Given the description of an element on the screen output the (x, y) to click on. 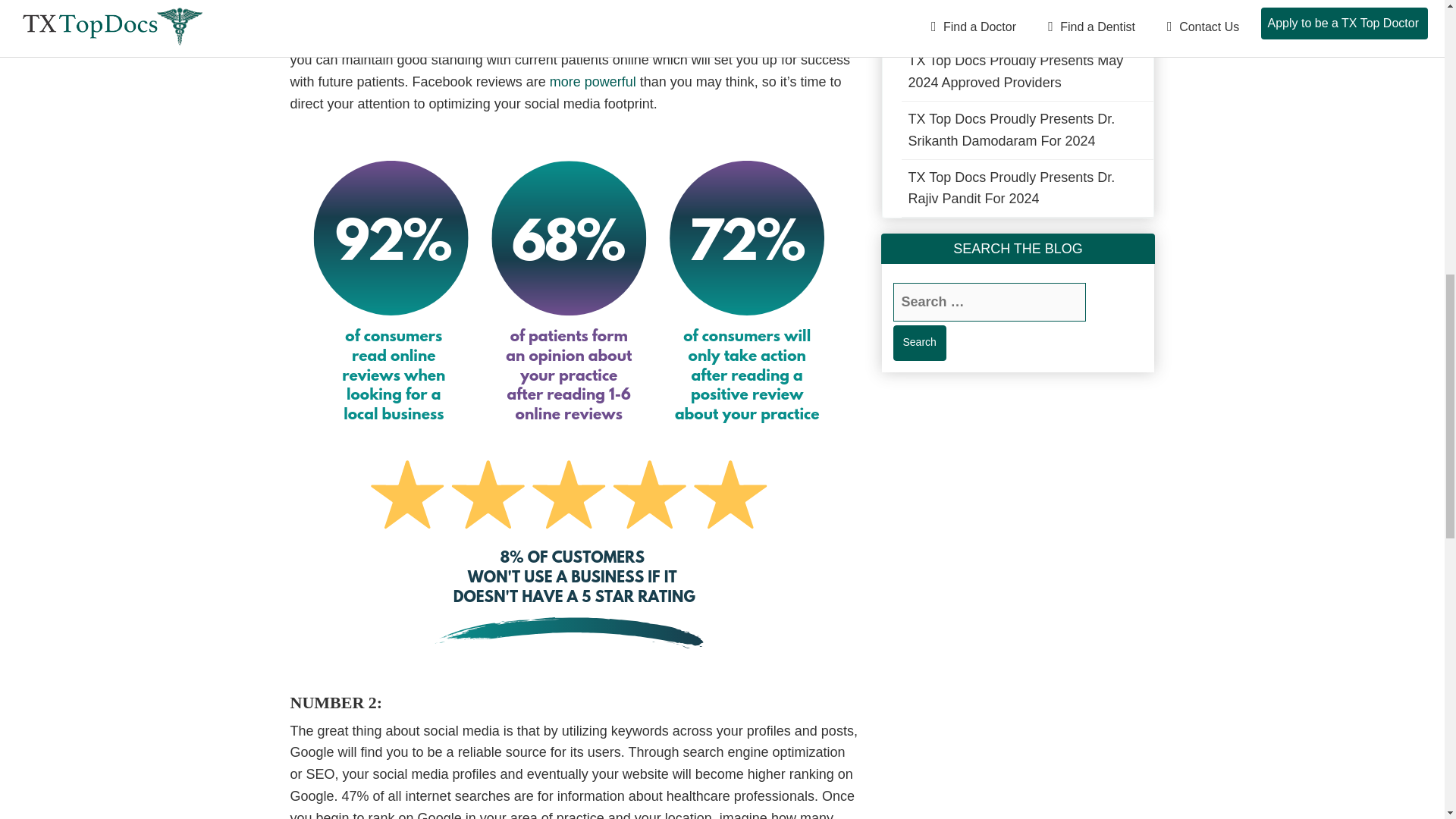
Search (919, 343)
TX Top Docs Proudly Presents Dr. Rajiv Pandit For 2024 (1027, 188)
TX Top Docs Proudly Presents May 2024 Approved Providers (1027, 71)
Search (919, 343)
TX Top Docs Proudly Presents Dr. Srikanth Damodaram For 2024 (1027, 129)
Search (919, 343)
more powerful (595, 81)
TX Top Docs Proudly Presents June 2024 Approved Providers (1027, 21)
